Given the description of an element on the screen output the (x, y) to click on. 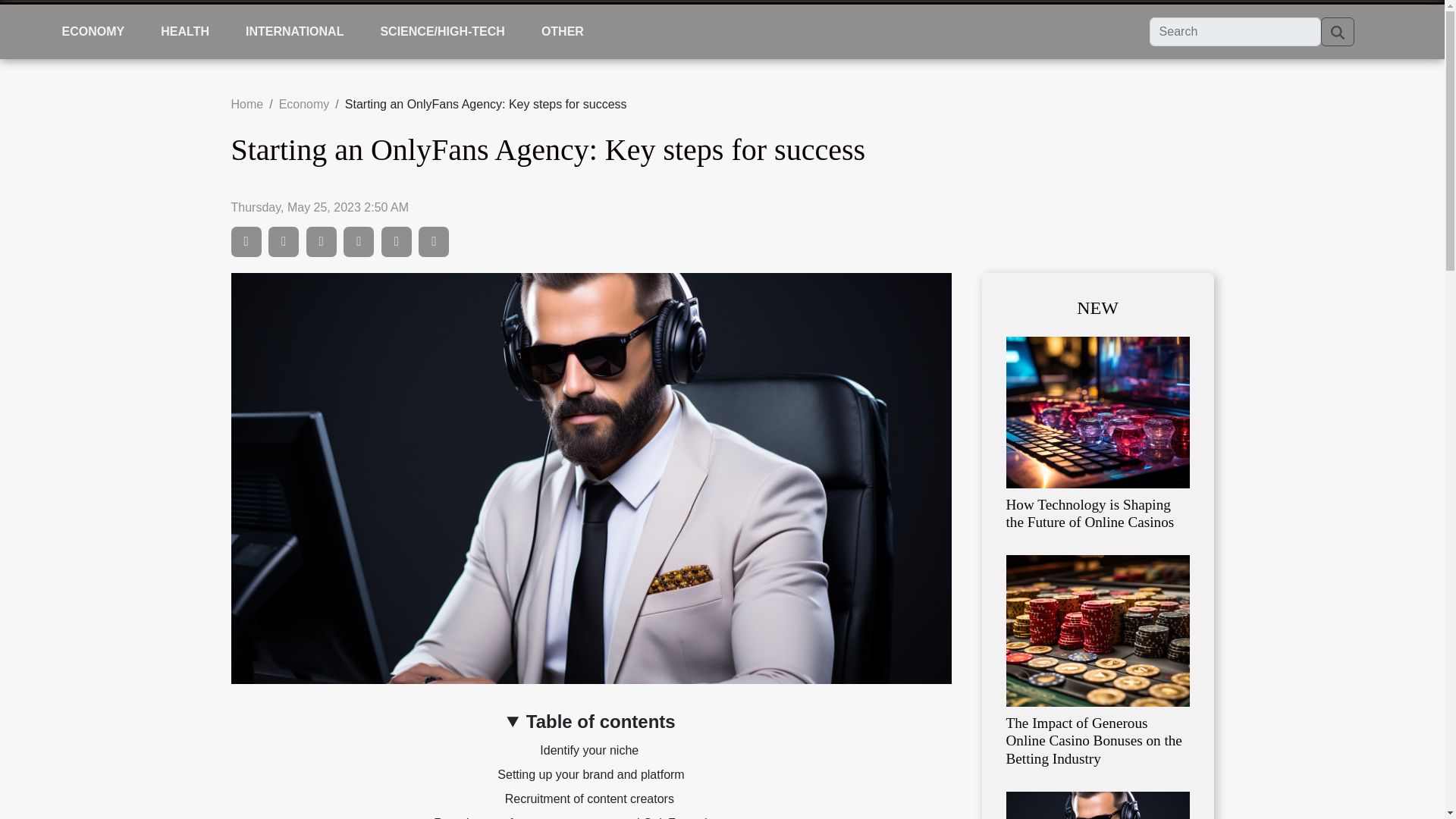
Economy (304, 103)
Recruitment of content creators  (591, 798)
Economy (304, 103)
How Technology is Shaping the Future of Online Casinos (1089, 512)
OTHER (562, 31)
ECONOMY (92, 31)
How Technology is Shaping the Future of Online Casinos (1097, 411)
